Given the description of an element on the screen output the (x, y) to click on. 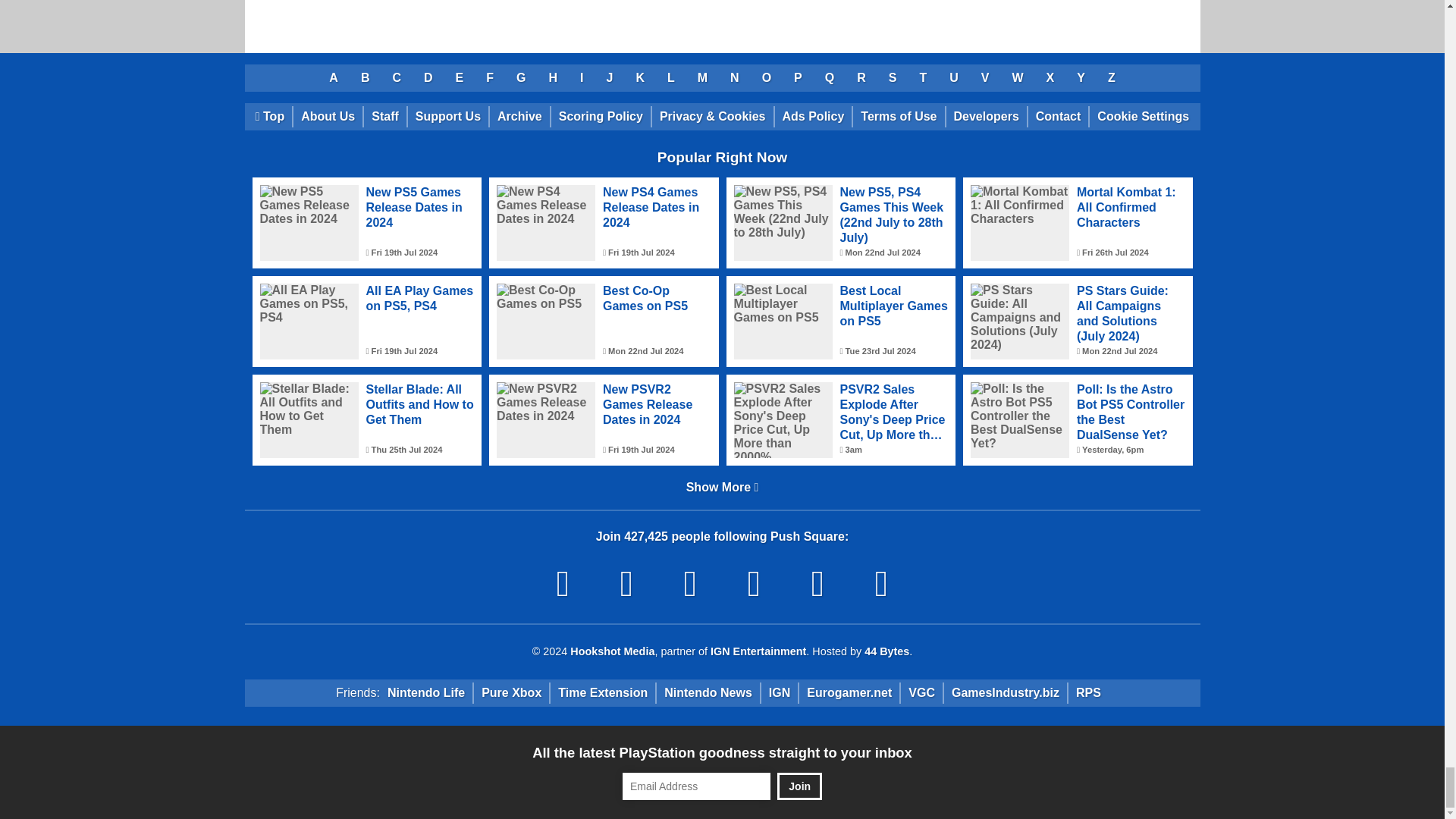
Join (799, 786)
